Given the description of an element on the screen output the (x, y) to click on. 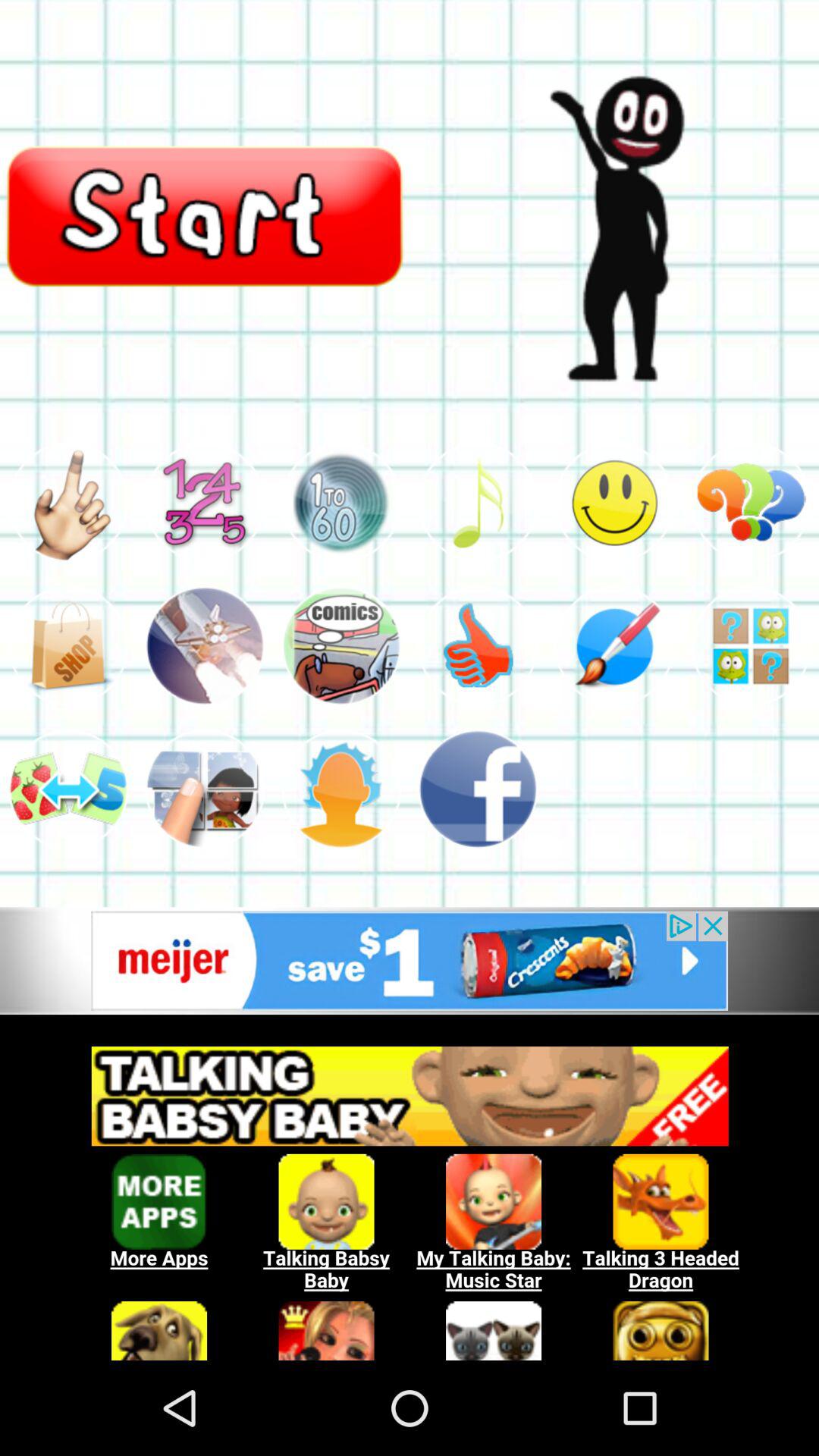
stickman games comedy jokes (341, 502)
